Given the description of an element on the screen output the (x, y) to click on. 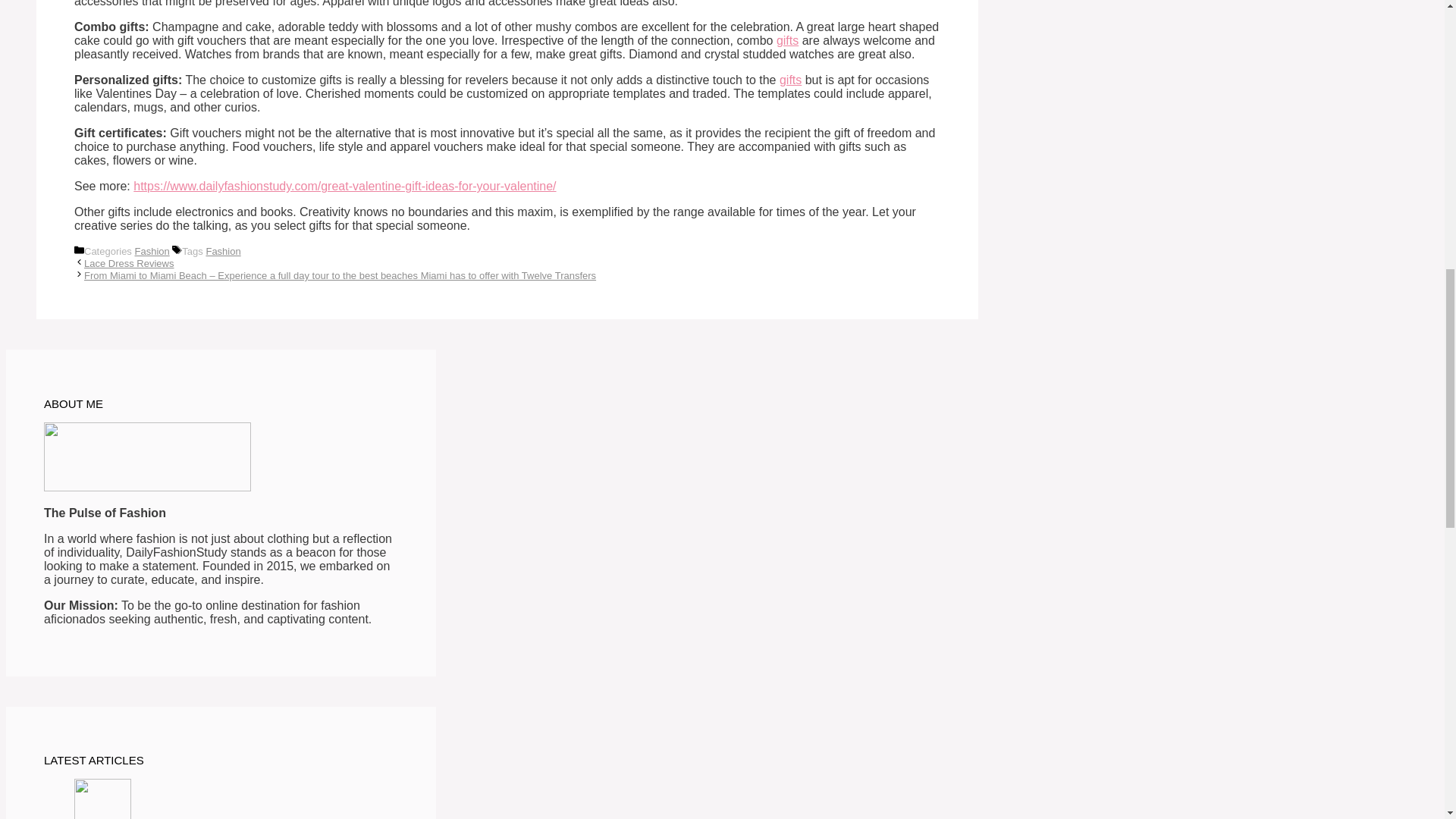
gifts (790, 79)
Fashion (150, 251)
Lace Dress Reviews (129, 263)
Fashion (222, 251)
gifts (786, 40)
